Given the description of an element on the screen output the (x, y) to click on. 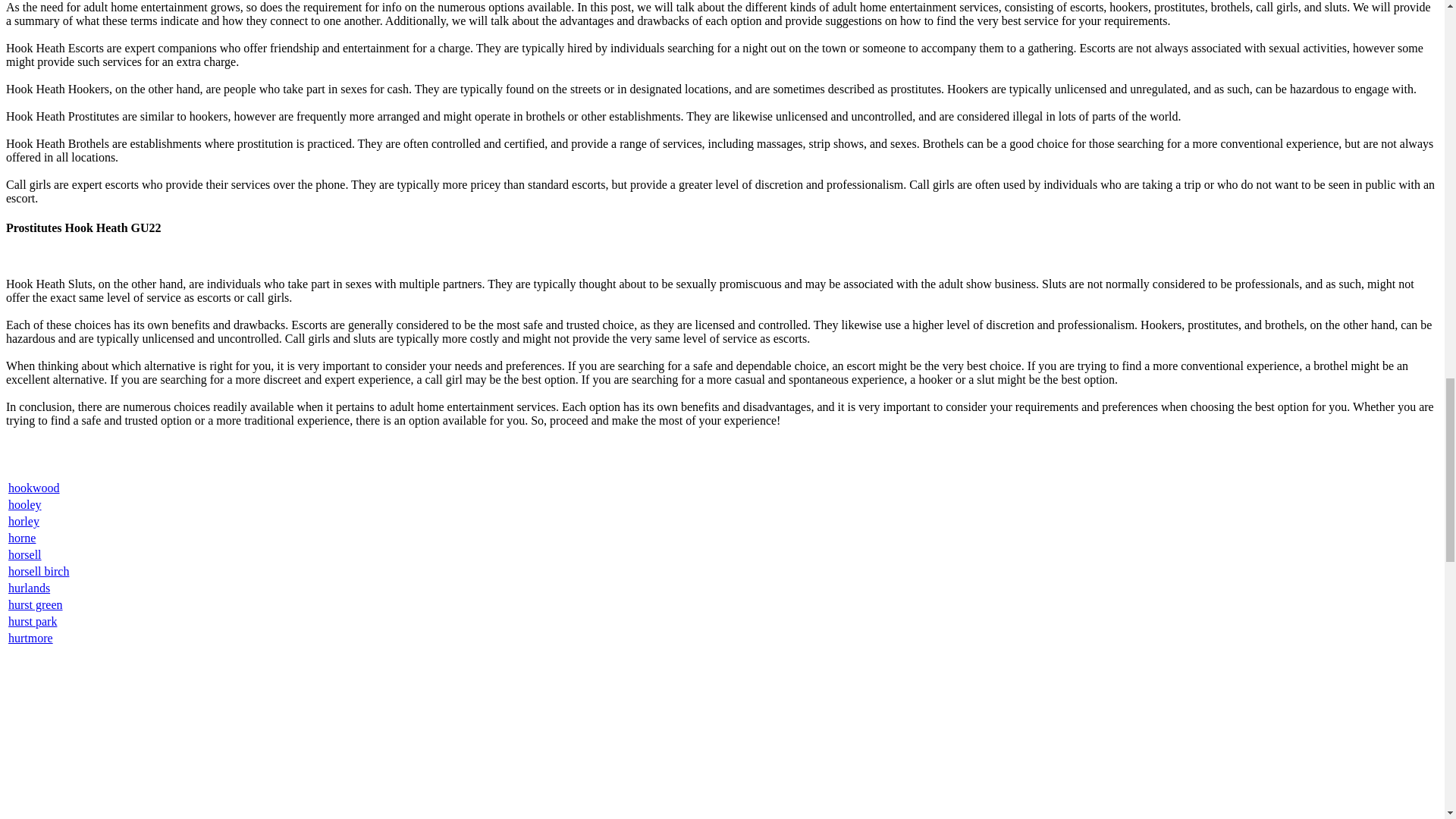
hurst green (35, 604)
hookwood (33, 487)
hurst park (32, 621)
horsell birch (38, 571)
horsell (25, 554)
horley (23, 521)
hooley (25, 504)
hurlands (28, 587)
hurtmore (30, 637)
horne (21, 537)
